Given the description of an element on the screen output the (x, y) to click on. 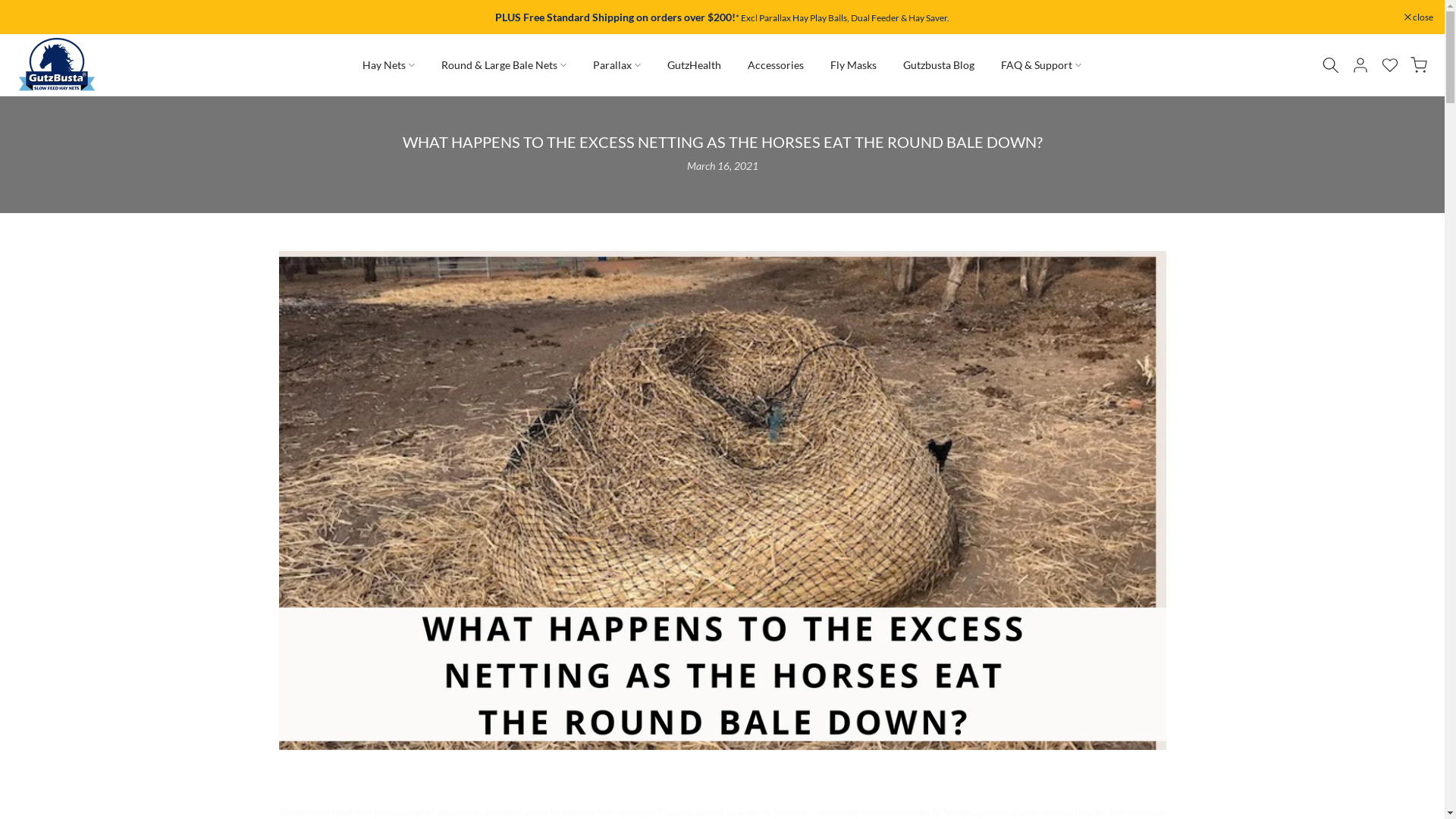
Round & Large Bale Nets Element type: text (504, 65)
Accessories Element type: text (775, 65)
close Element type: text (1418, 16)
Parallax Element type: text (617, 65)
Hay Nets Element type: text (388, 65)
GutzHealth Element type: text (694, 65)
Gutzbusta Blog Element type: text (939, 65)
Fly Masks Element type: text (853, 65)
FAQ & Support Element type: text (1041, 65)
